Given the description of an element on the screen output the (x, y) to click on. 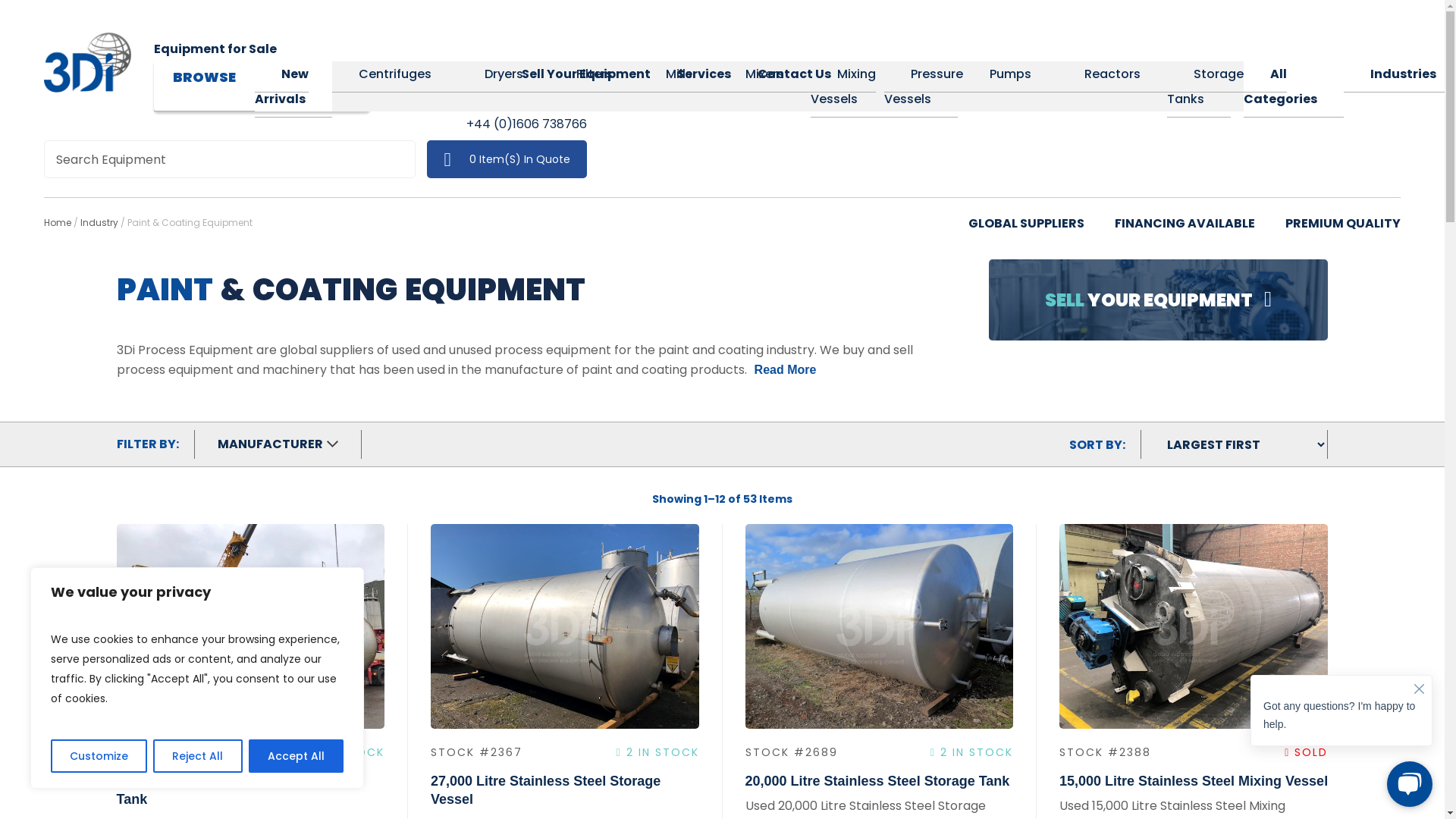
Services Element type: text (704, 73)
Dryers Element type: text (503, 74)
Equipment for Sale Element type: text (214, 48)
Home Element type: text (57, 222)
Mixers Element type: text (764, 74)
Industry Element type: text (99, 222)
Pumps Element type: text (1010, 74)
Contact Us Element type: text (794, 73)
Centrifuges Element type: text (395, 74)
SELL YOUR EQUIPMENT Element type: text (1157, 299)
Accept All Element type: text (295, 755)
Filters Element type: text (594, 74)
Reject All Element type: text (197, 755)
Sell Your Equipment Element type: text (585, 73)
Reactors Element type: text (1112, 74)
Customize Element type: text (98, 755)
0 Item(S) In Quote Element type: text (506, 159)
All Categories Element type: text (1293, 86)
Mills Element type: text (678, 74)
New Arrivals Element type: text (293, 86)
Storage Tanks Element type: text (1205, 86)
Mixing Vessels Element type: text (847, 86)
+44 (0)1606 738766 Element type: text (526, 123)
Pressure Vessels Element type: text (923, 86)
